Given the description of an element on the screen output the (x, y) to click on. 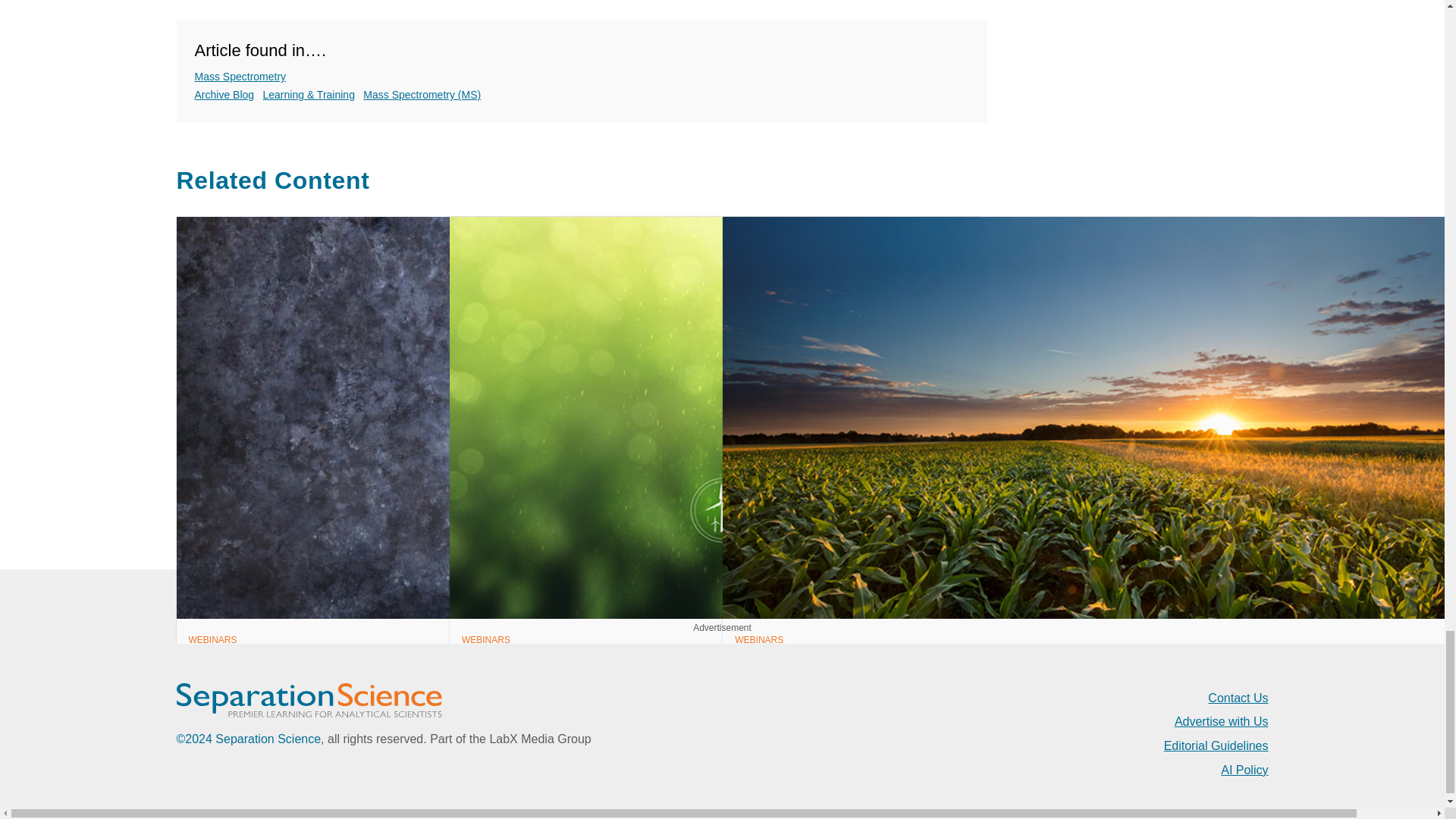
separation science logo-exI (308, 700)
Posts by Separation Science in collaboration with SCIEX (314, 680)
Posts by Separation Science in collaboration with Agilent (587, 680)
